Given the description of an element on the screen output the (x, y) to click on. 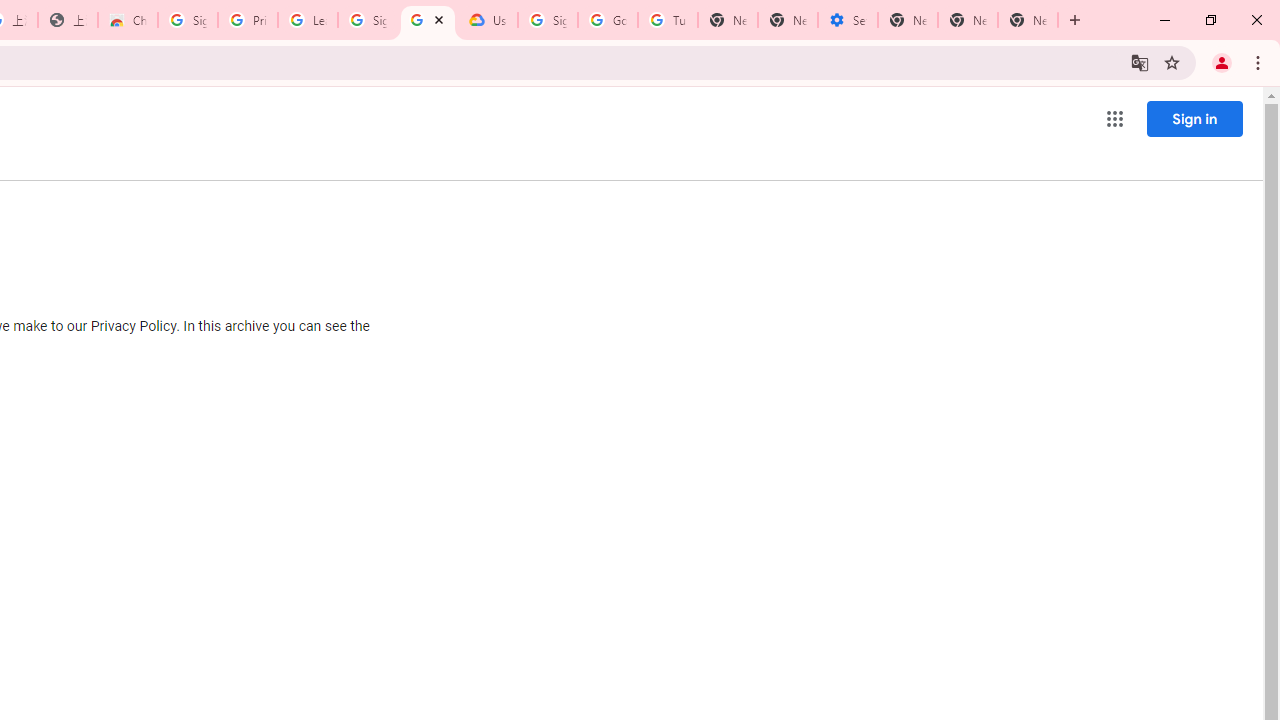
Google Apps (1114, 118)
Sign in - Google Accounts (548, 20)
Sign in - Google Accounts (187, 20)
Turn cookies on or off - Computer - Google Account Help (667, 20)
Who are Google's partners? - Privacy and conditions - Google (428, 20)
New Tab (1028, 20)
